Given the description of an element on the screen output the (x, y) to click on. 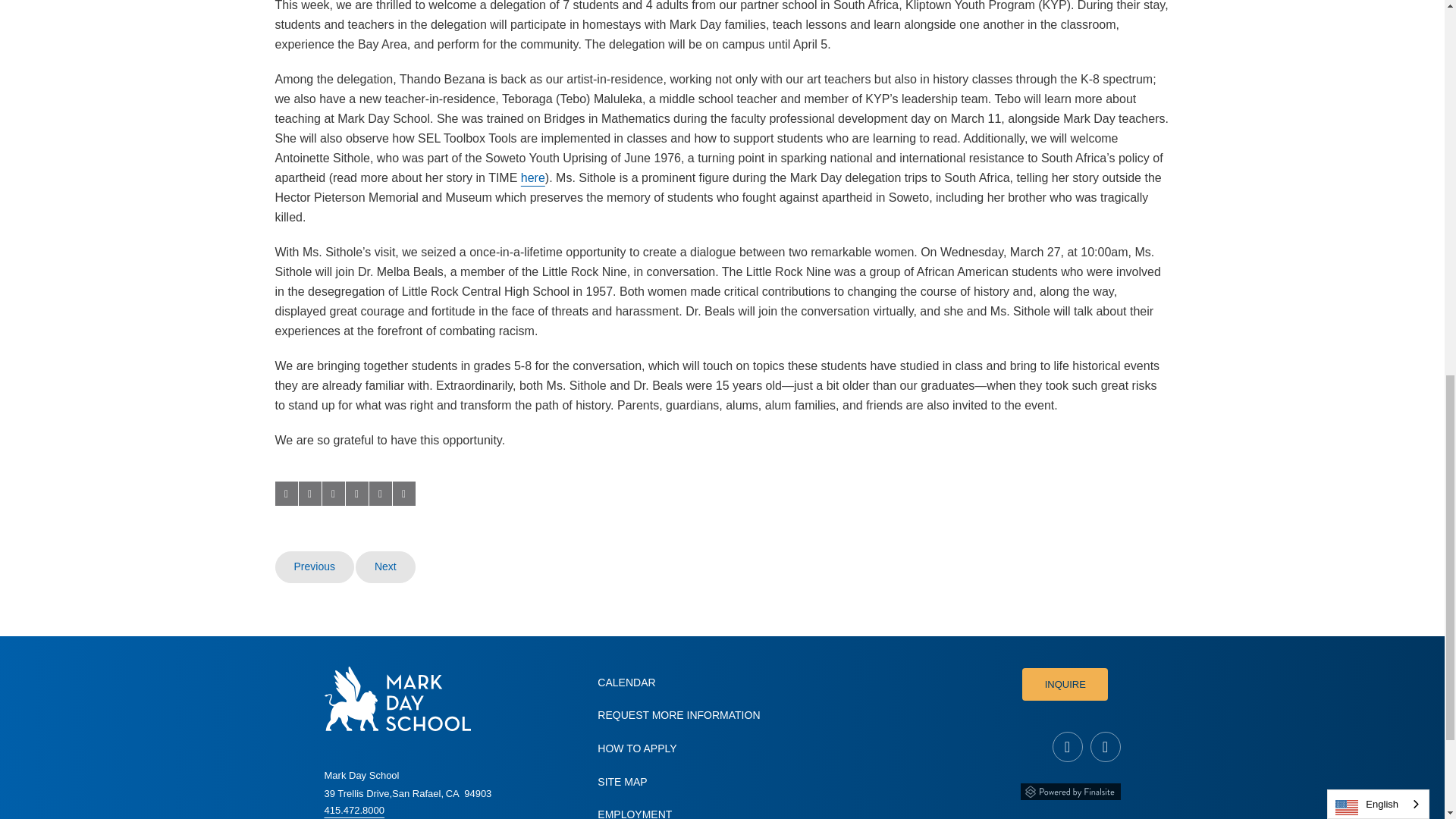
Share to LinkedIn (332, 493)
Share to Email (379, 493)
Share to Facebook (286, 493)
Print this page (403, 493)
Share to Pinterest (357, 493)
Share to Twitter (309, 493)
Powered by Finalsite opens in a new window (1070, 787)
